Given the description of an element on the screen output the (x, y) to click on. 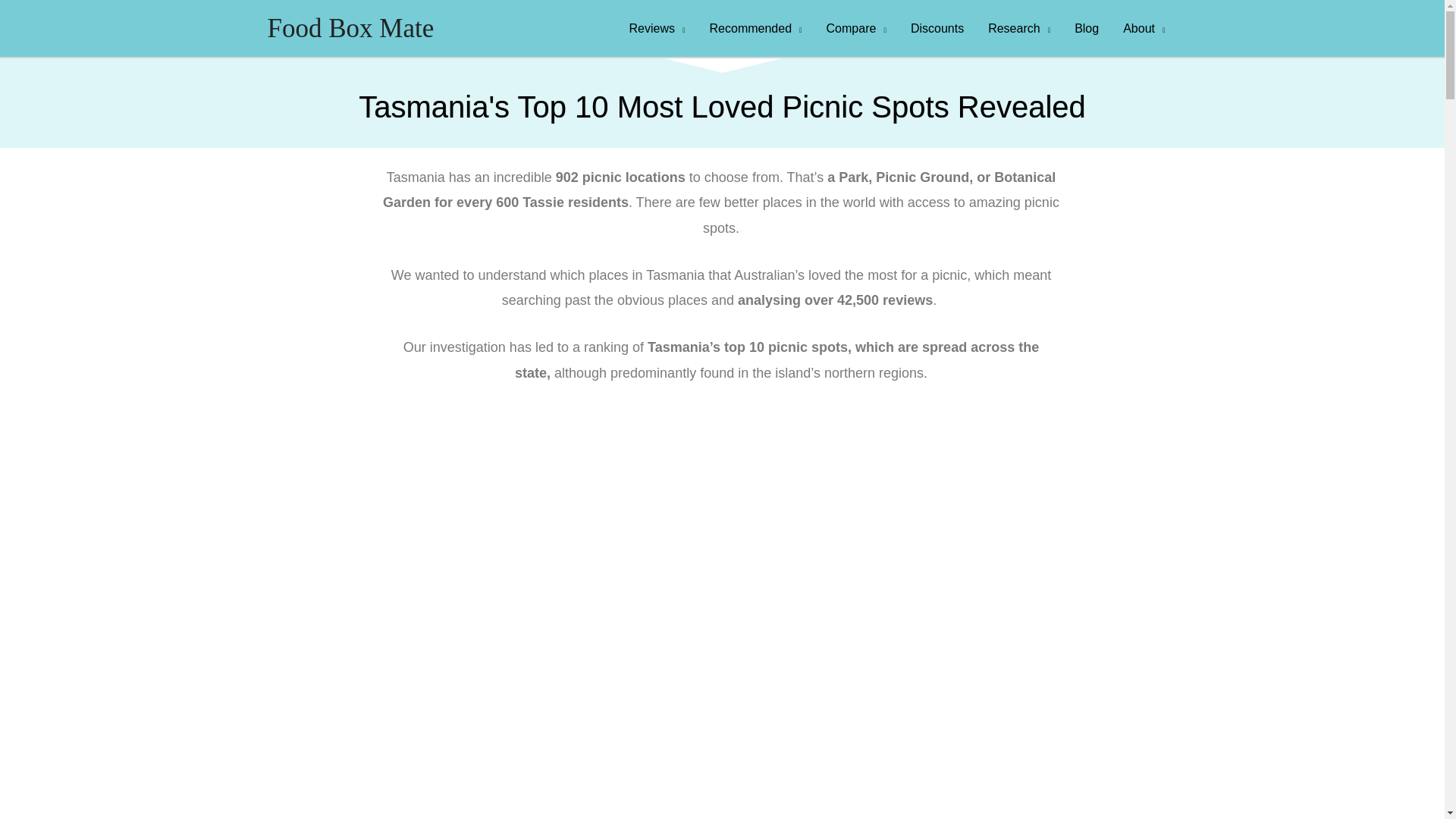
Food Box Mate (349, 28)
Reviews (657, 28)
